Given the description of an element on the screen output the (x, y) to click on. 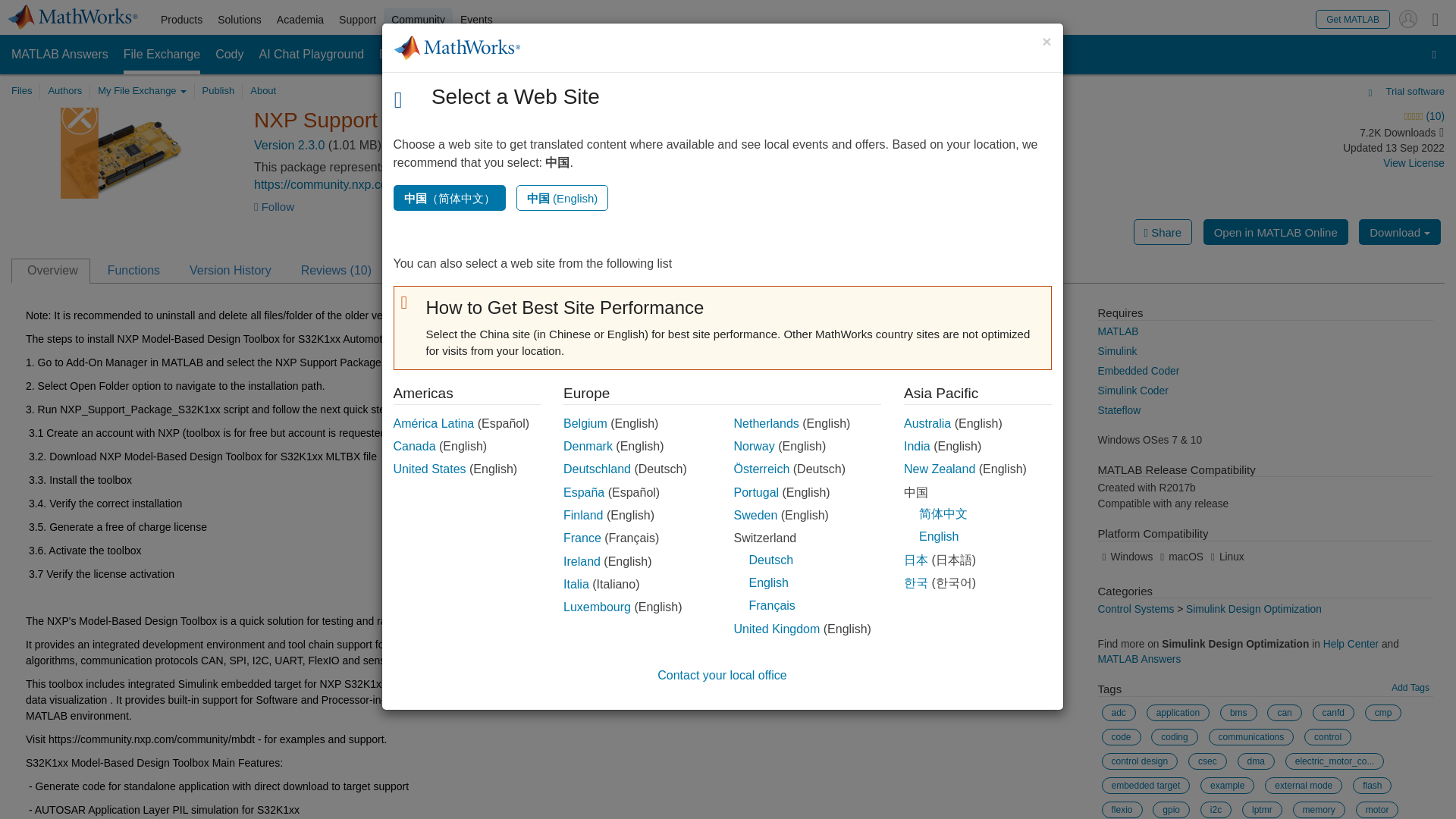
Solutions (239, 19)
Academia (300, 19)
5.00 out of 5 stars (1303, 116)
Support (357, 19)
Get MATLAB (1353, 18)
Community (418, 19)
Events (476, 19)
Sign In to Your MathWorks Account (1407, 18)
Products (180, 19)
